Given the description of an element on the screen output the (x, y) to click on. 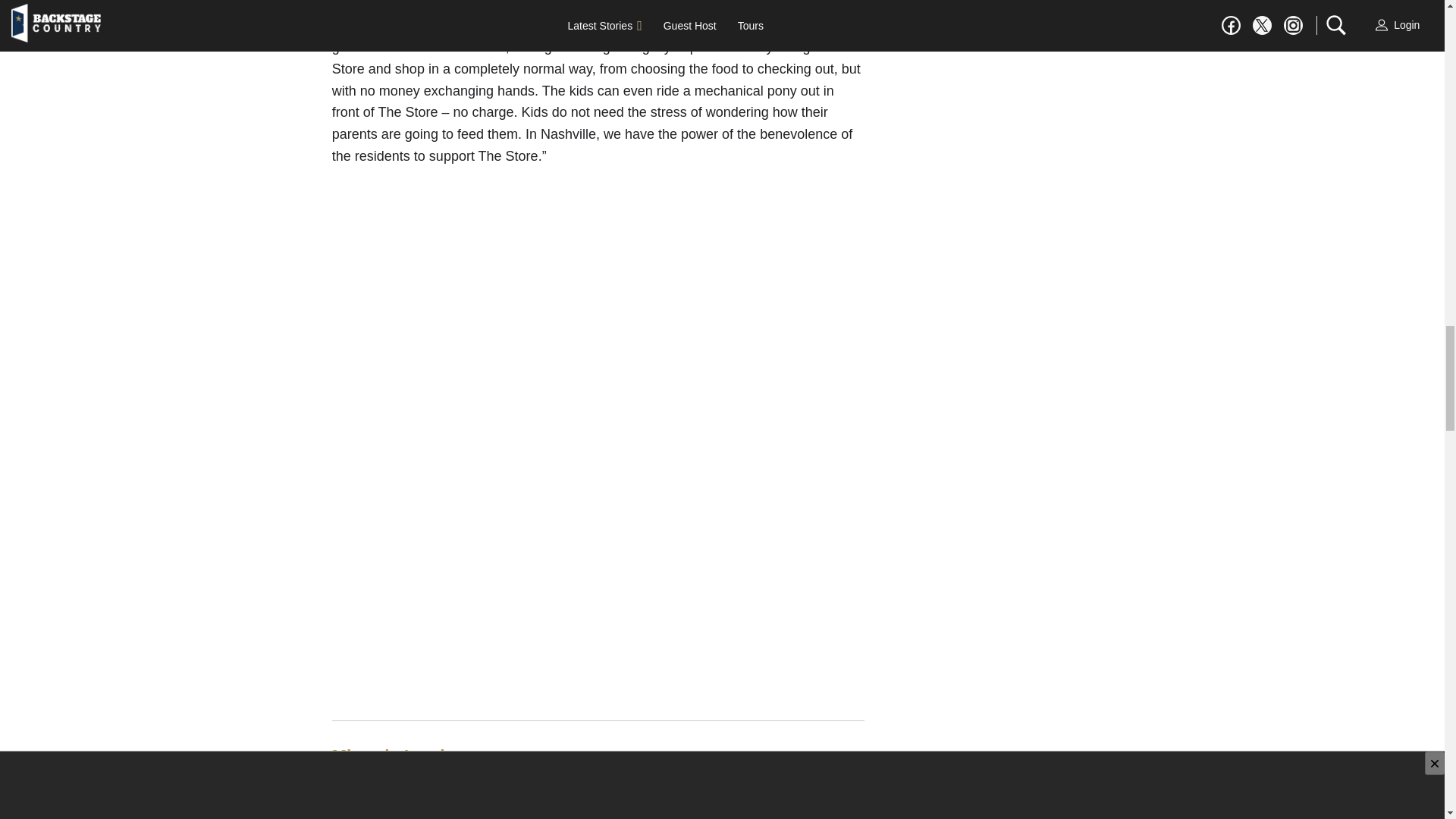
The Store (620, 5)
MuttNation Foundation (782, 790)
